Given the description of an element on the screen output the (x, y) to click on. 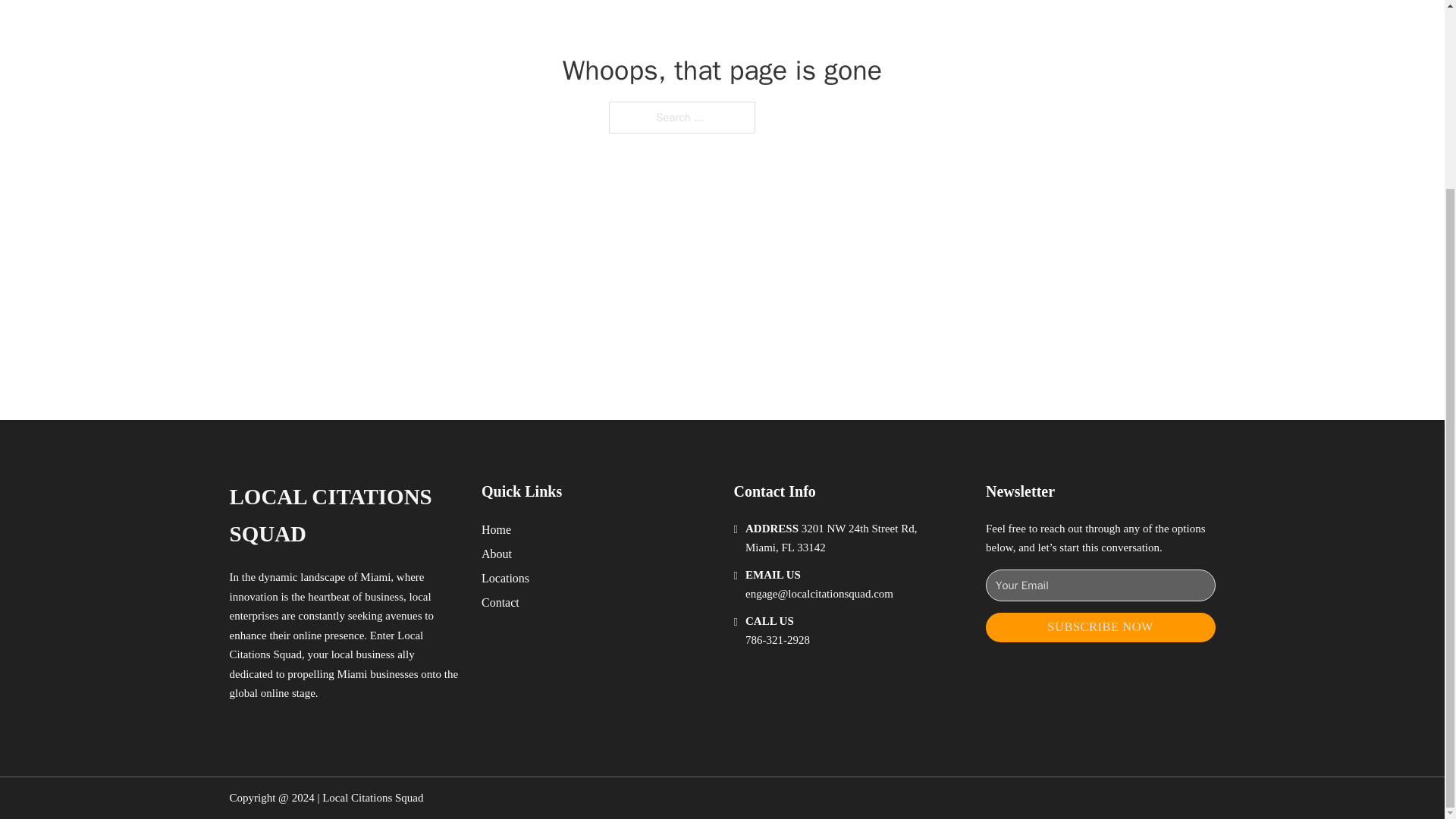
Home (496, 529)
SUBSCRIBE NOW (1100, 627)
786-321-2928 (777, 639)
LOCAL CITATIONS SQUAD (343, 515)
Contact (500, 602)
About (496, 553)
Locations (505, 578)
